Given the description of an element on the screen output the (x, y) to click on. 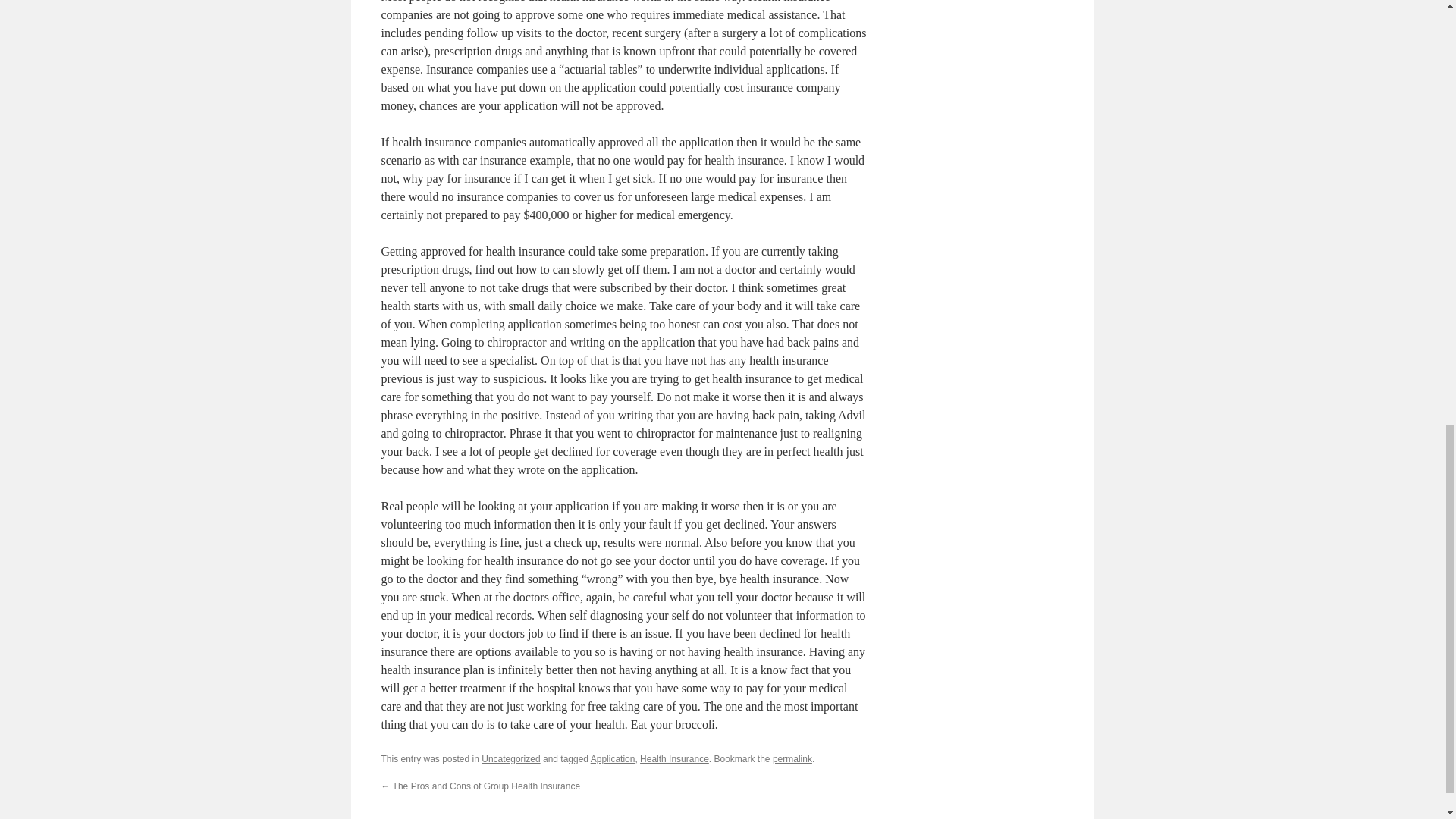
Uncategorized (510, 758)
Application (612, 758)
View all posts in Uncategorized (510, 758)
Health Insurance (674, 758)
permalink (792, 758)
